Given the description of an element on the screen output the (x, y) to click on. 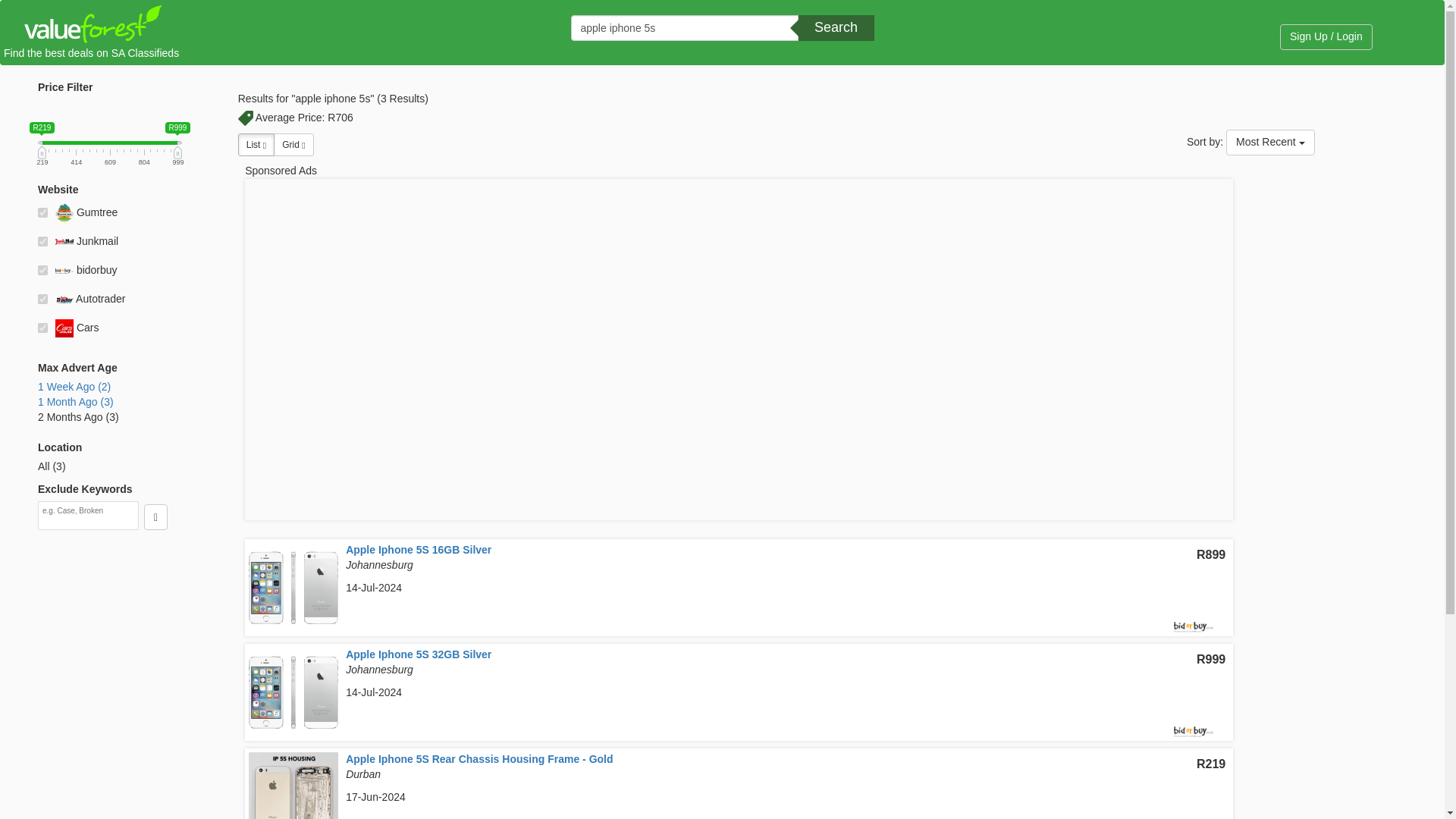
Grid (293, 144)
apple iphone 5s (683, 27)
Most Recent (1269, 142)
gum (42, 212)
Advertisement (1349, 421)
Search (835, 27)
Advertisement (109, 682)
at (42, 298)
cars (42, 327)
List (256, 144)
junk (42, 241)
bidorbuy (42, 270)
apple iphone 5s (683, 27)
Apple Iphone 5S Rear Chassis Housing Frame - Gold (479, 758)
Find the best deals on SA Classifieds (91, 34)
